Given the description of an element on the screen output the (x, y) to click on. 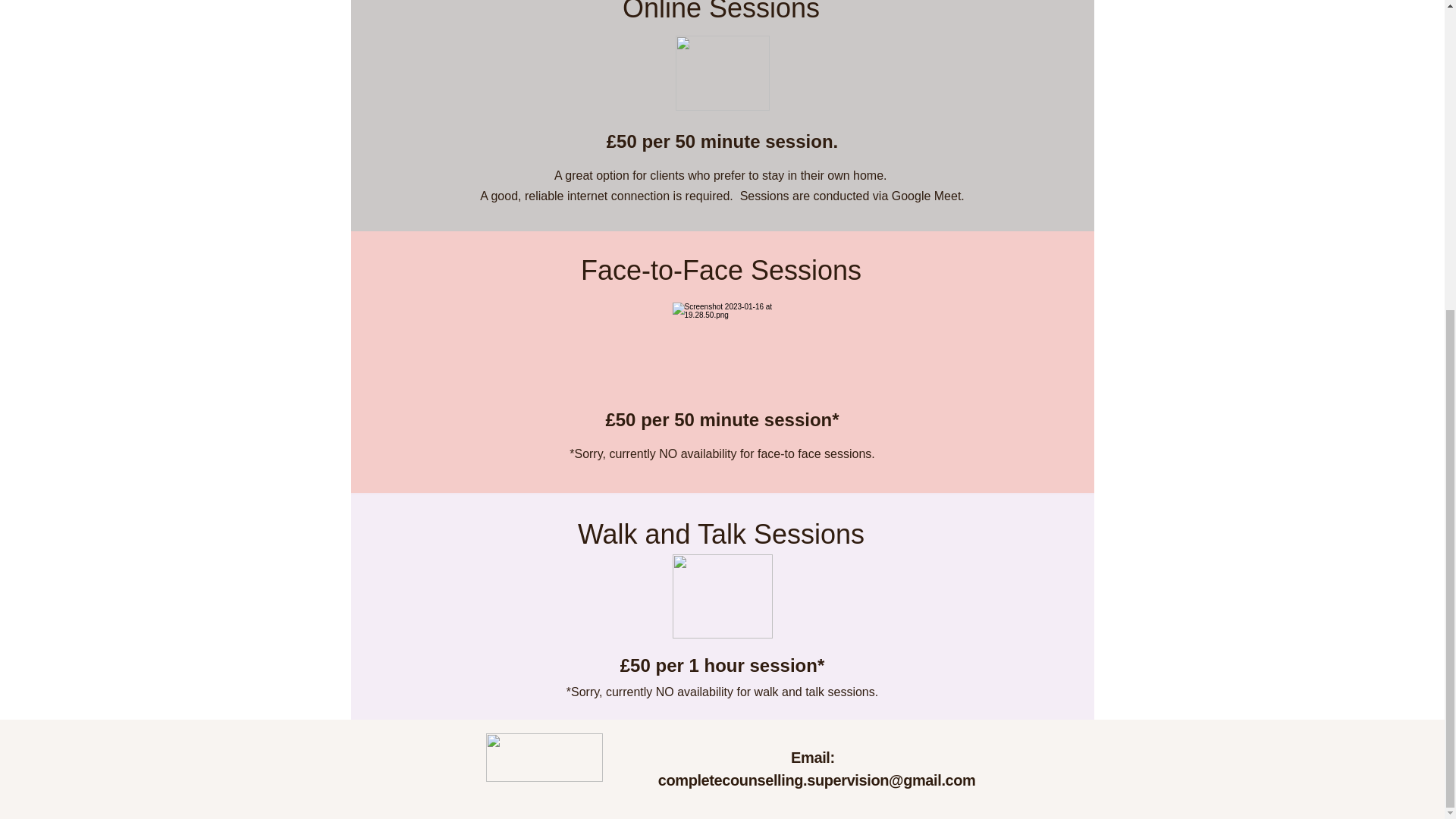
Online Sessions (721, 11)
Walk and Talk Sessions (721, 533)
Screenshot 2023-11-20 at 11.17.19.png (721, 73)
Face-to-Face Sessions (720, 269)
